Given the description of an element on the screen output the (x, y) to click on. 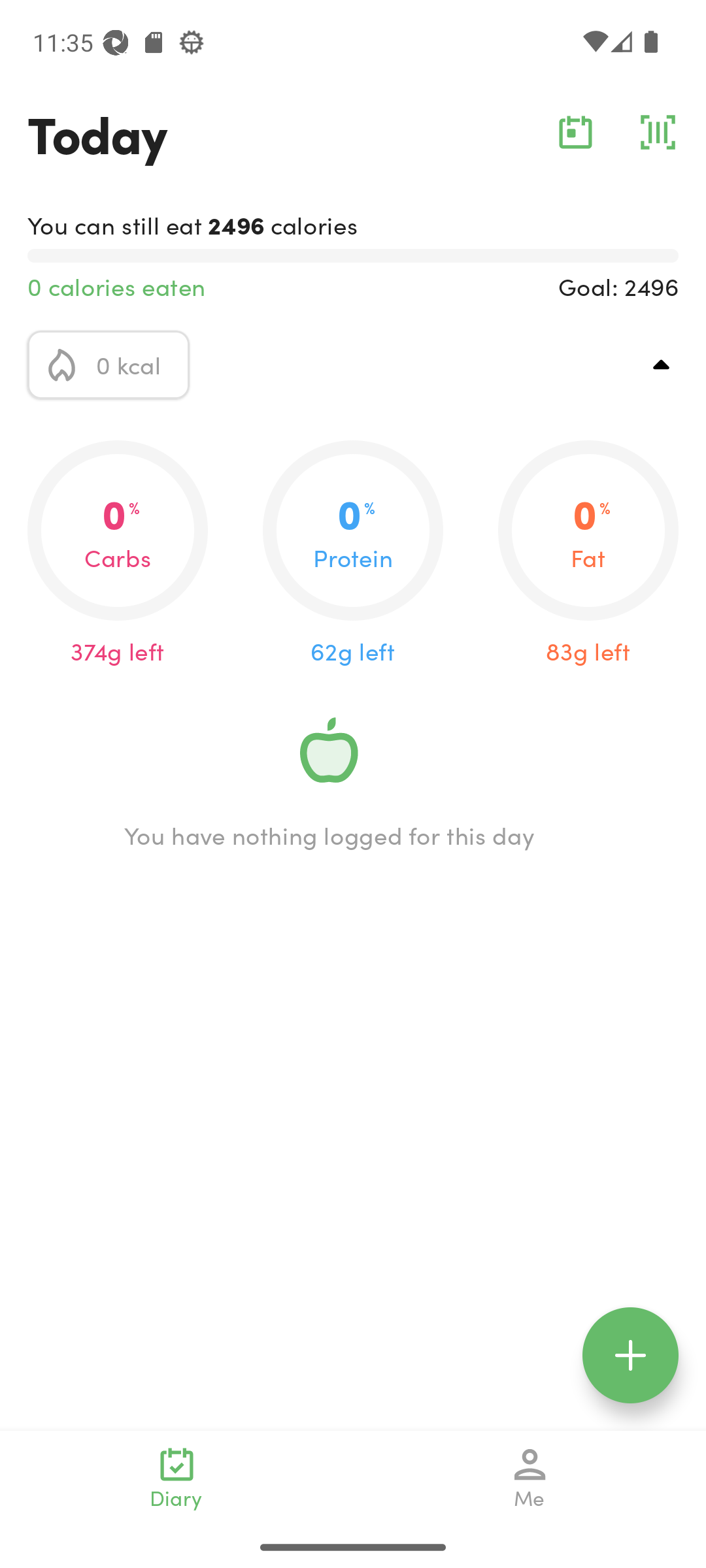
calendar_action (575, 132)
barcode_action (658, 132)
calorie_icon 0 kcal (108, 365)
top_right_action (661, 365)
0.0 0 % Carbs 374g left (117, 553)
0.0 0 % Protein 62g left (352, 553)
0.0 0 % Fat 83g left (588, 553)
floating_action_icon (630, 1355)
Me navigation_icon (529, 1478)
